Given the description of an element on the screen output the (x, y) to click on. 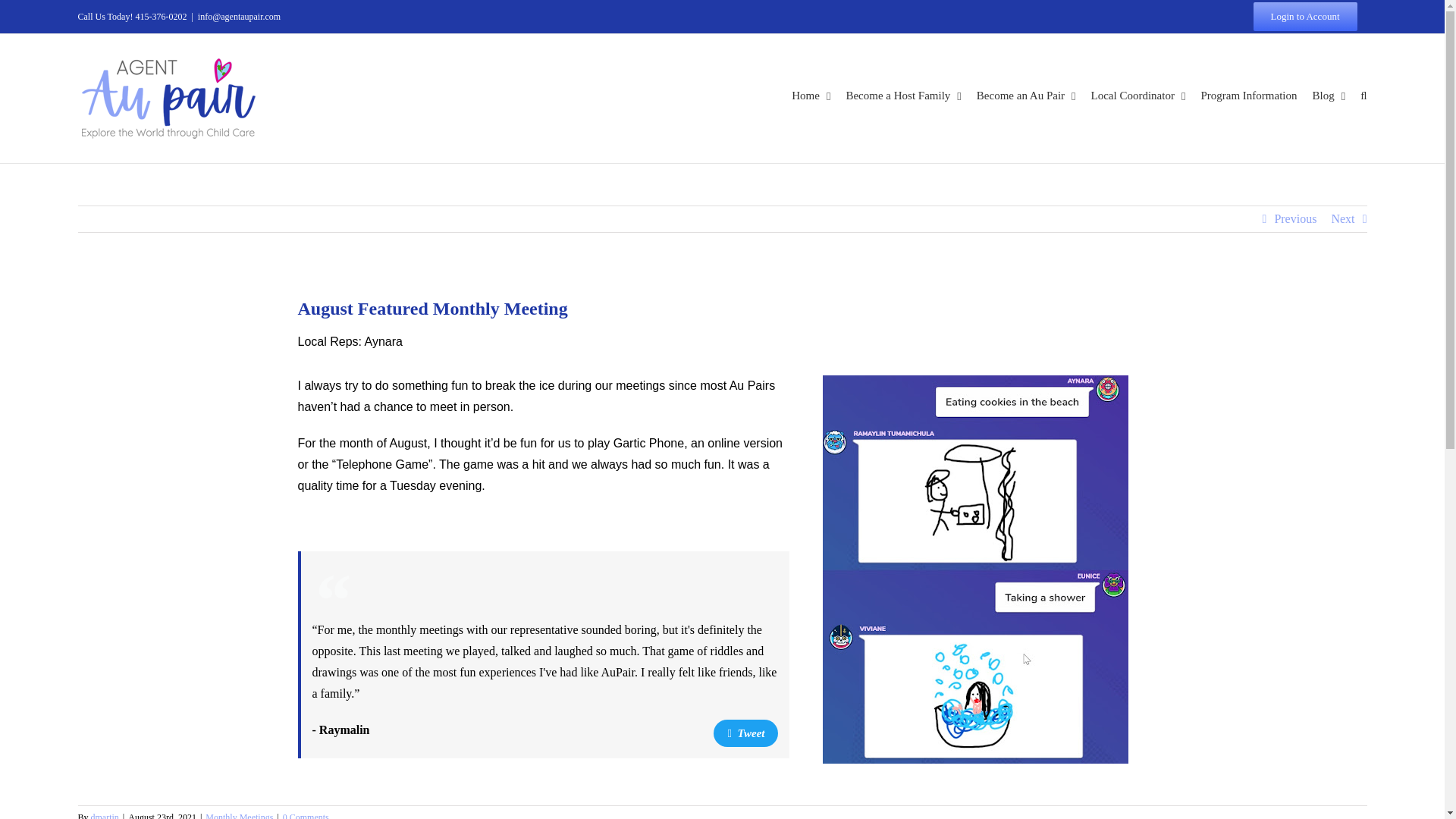
Posts by dmartin (104, 815)
Become a Host Family (902, 96)
Login to Account (1305, 16)
